Given the description of an element on the screen output the (x, y) to click on. 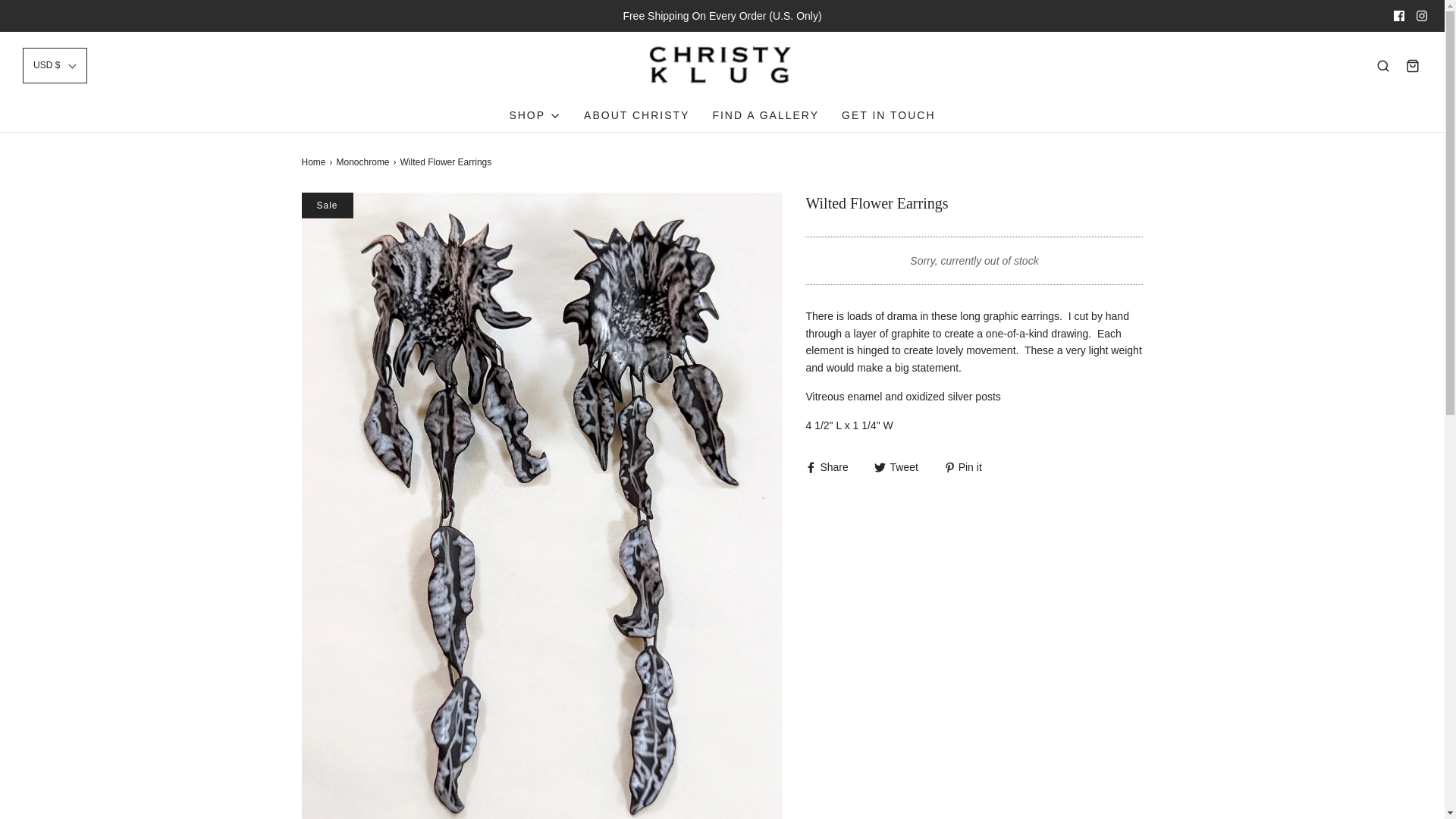
GET IN TOUCH (888, 115)
Search (1382, 65)
Monochrome (364, 162)
Home (315, 162)
Facebook icon (1399, 15)
FIND A GALLERY (764, 115)
Instagram icon (1421, 15)
SHOP (534, 115)
Cart (1412, 65)
Instagram icon (1421, 15)
Back to the frontpage (315, 162)
Facebook icon (1399, 15)
ABOUT CHRISTY (635, 115)
